Given the description of an element on the screen output the (x, y) to click on. 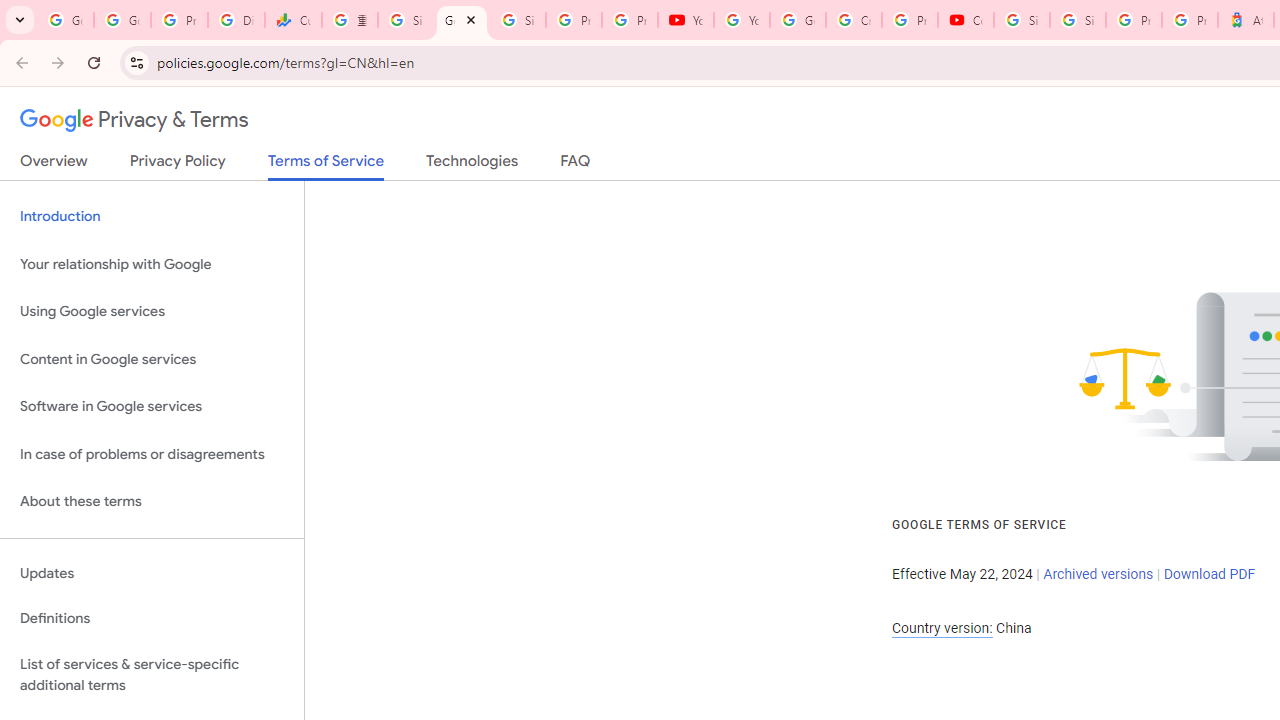
YouTube (742, 20)
Privacy Checkup (629, 20)
Sign in - Google Accounts (1021, 20)
Terms of Service (326, 166)
Introduction (152, 216)
Software in Google services (152, 407)
In case of problems or disagreements (152, 453)
FAQ (575, 165)
Google Account Help (797, 20)
Your relationship with Google (152, 263)
